Given the description of an element on the screen output the (x, y) to click on. 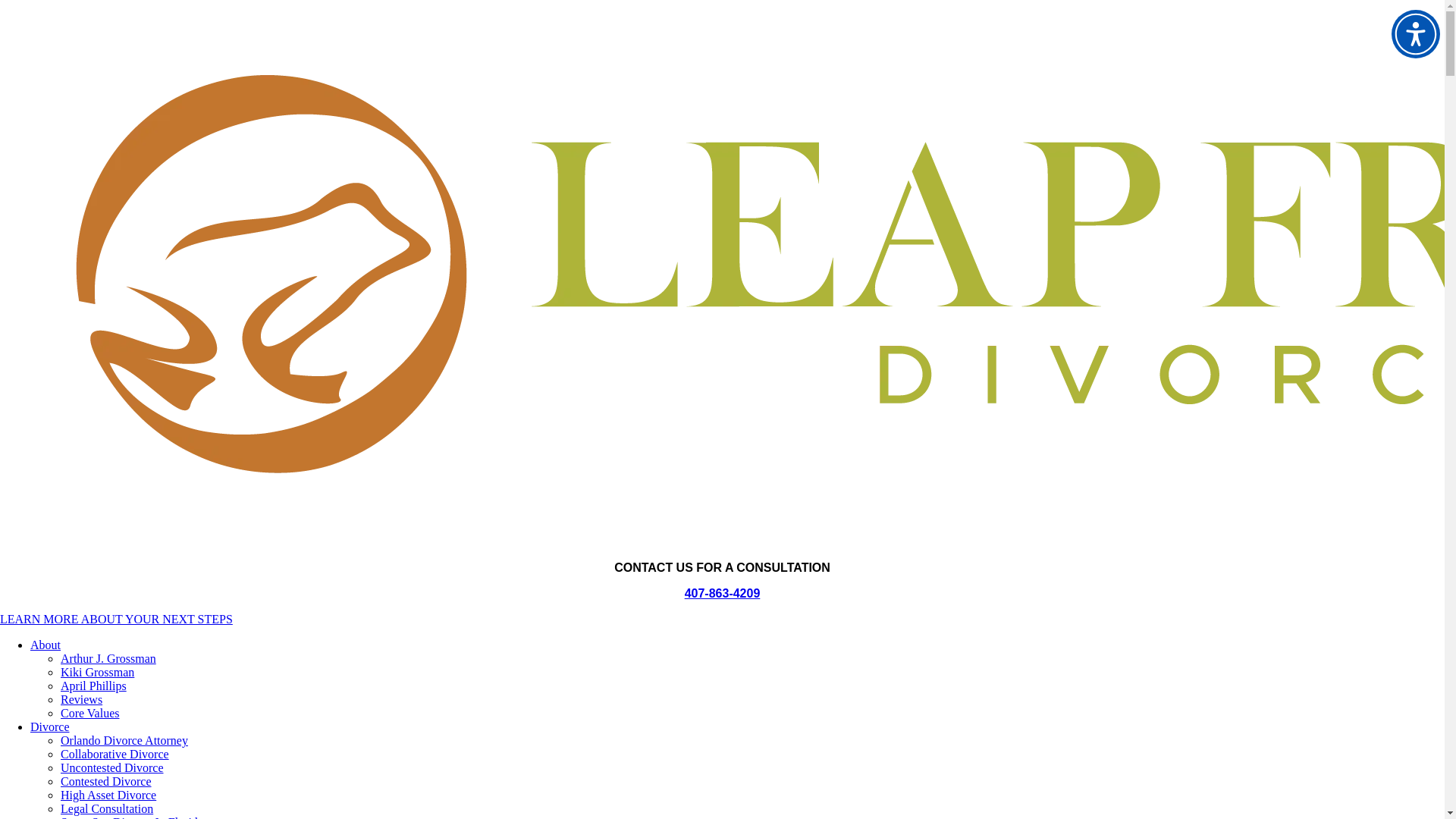
Contested Divorce (106, 780)
Reviews (81, 698)
April Phillips (93, 685)
Uncontested Divorce (112, 767)
Accessibility Menu (1415, 33)
Collaborative Divorce (114, 753)
About (45, 644)
407-863-4209 (722, 593)
Orlando Divorce Attorney (124, 739)
Kiki Grossman (97, 671)
High Asset Divorce (108, 794)
LEARN MORE ABOUT YOUR NEXT STEPS (116, 618)
Divorce (49, 726)
Same-Sex Divorce In Florida (132, 817)
Core Values (90, 712)
